Given the description of an element on the screen output the (x, y) to click on. 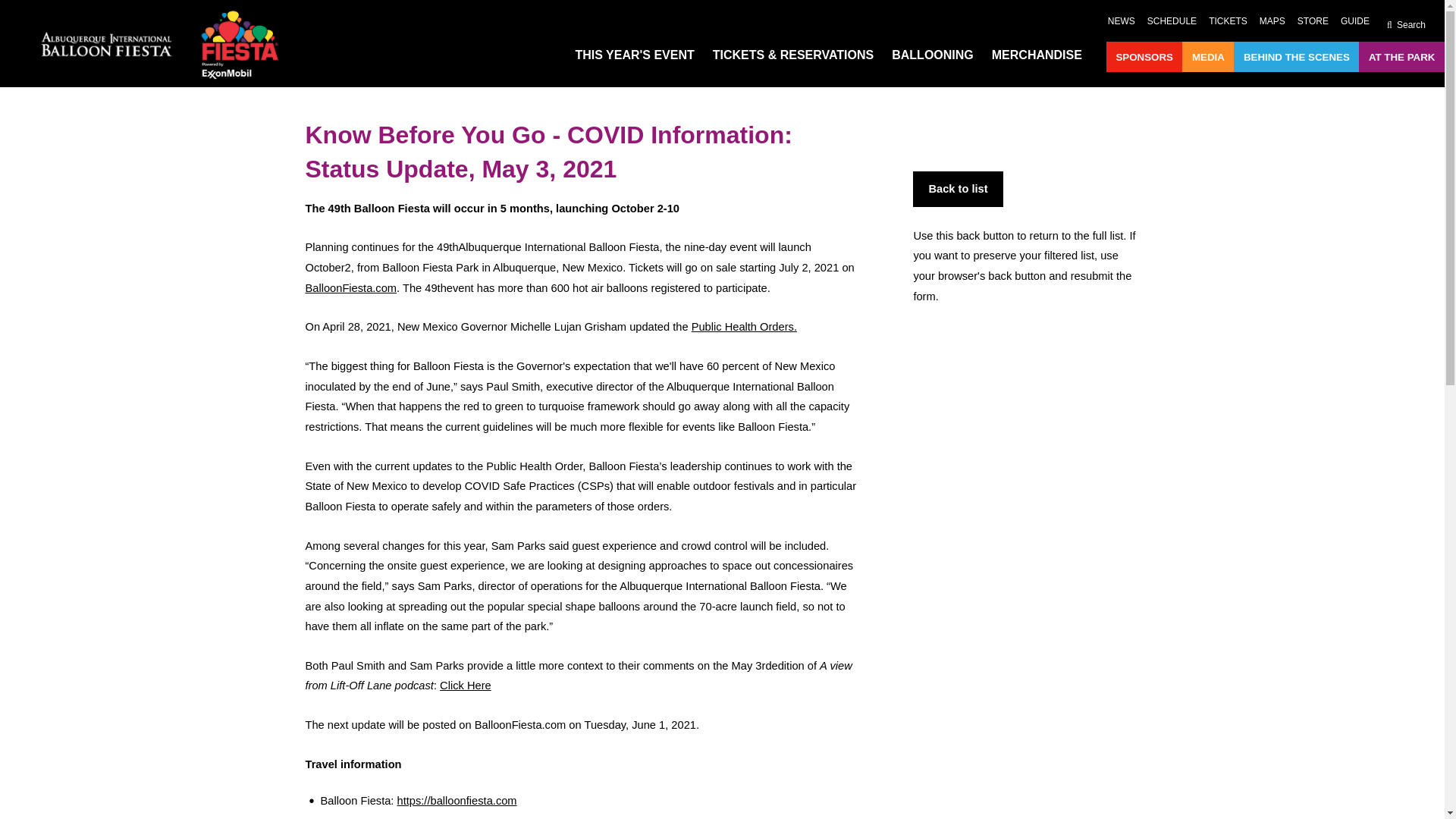
GUIDE (1355, 20)
NEWS (1121, 20)
STORE (1313, 20)
BEHIND THE SCENES (1296, 57)
SPONSORS (1144, 57)
AT THE PARK (1401, 57)
2024 Guest Guide (1355, 20)
THIS YEAR'S EVENT (634, 54)
2024 Schedule of Events (1171, 20)
MEDIA (1208, 57)
SCHEDULE (1171, 20)
MAPS (1272, 20)
TICKETS (1227, 20)
